Given the description of an element on the screen output the (x, y) to click on. 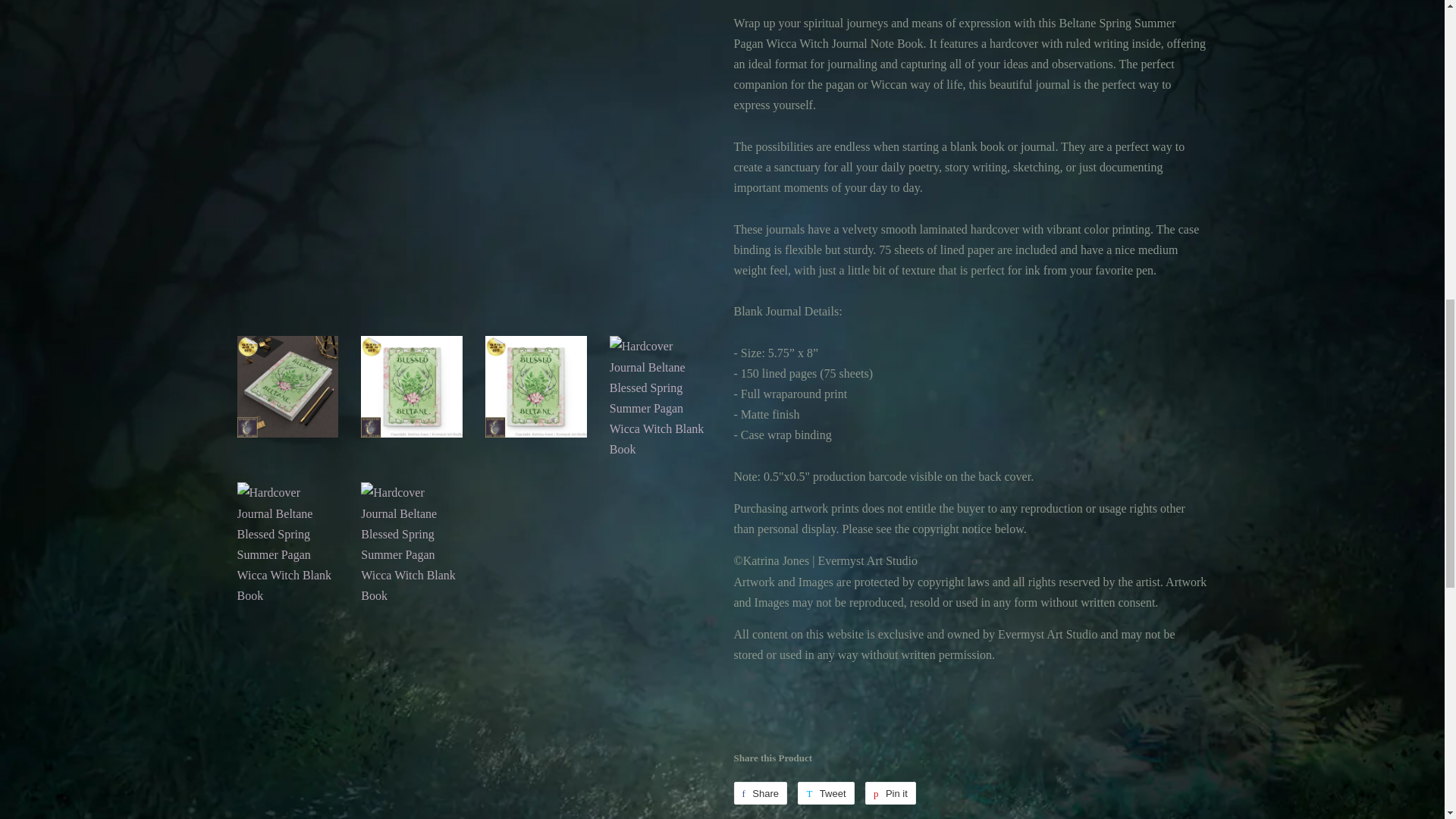
Tweet on Twitter (825, 793)
Pin on Pinterest (889, 793)
Share on Facebook (760, 793)
